Given the description of an element on the screen output the (x, y) to click on. 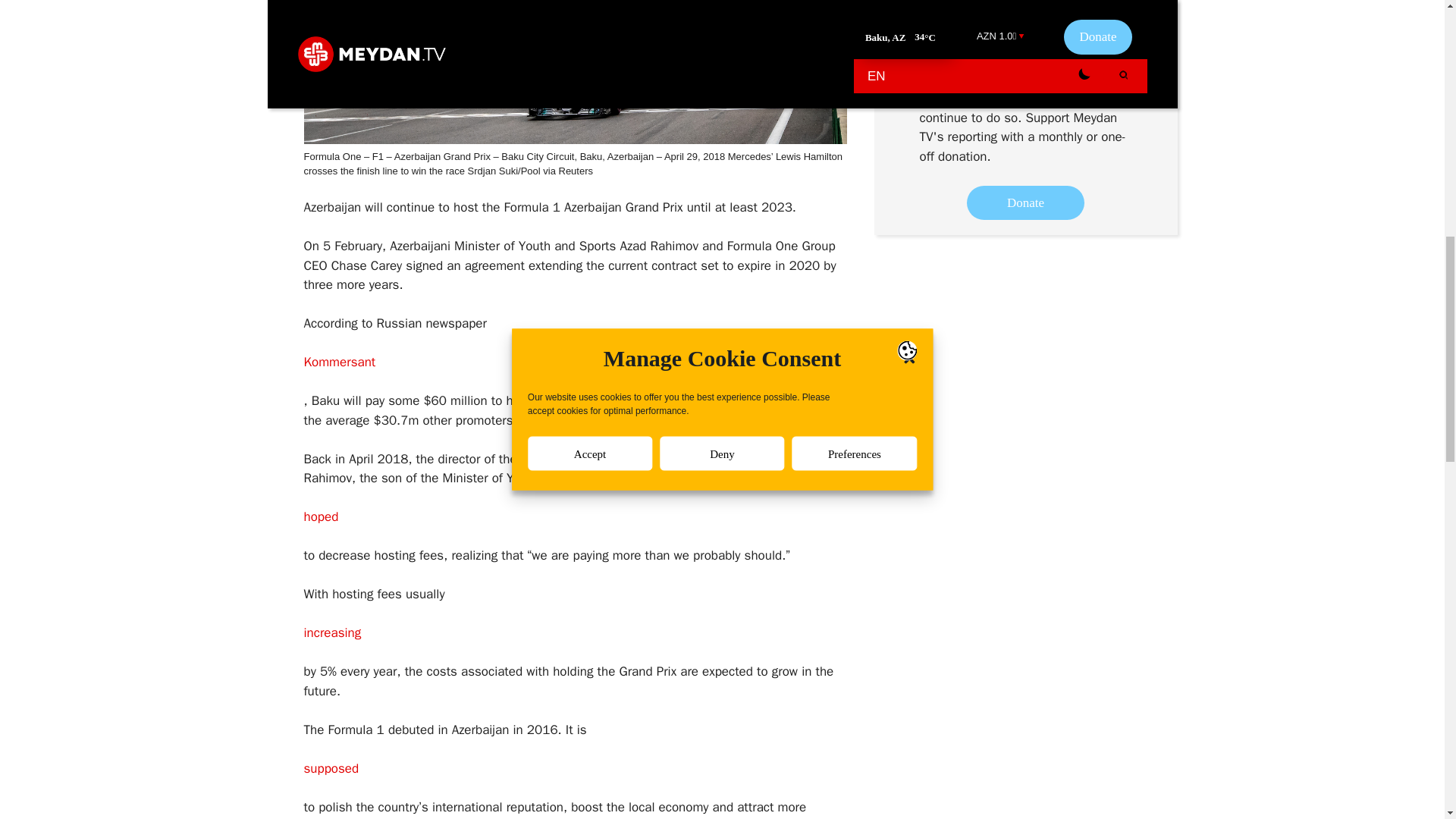
Scroll back to top (1406, 720)
